Given the description of an element on the screen output the (x, y) to click on. 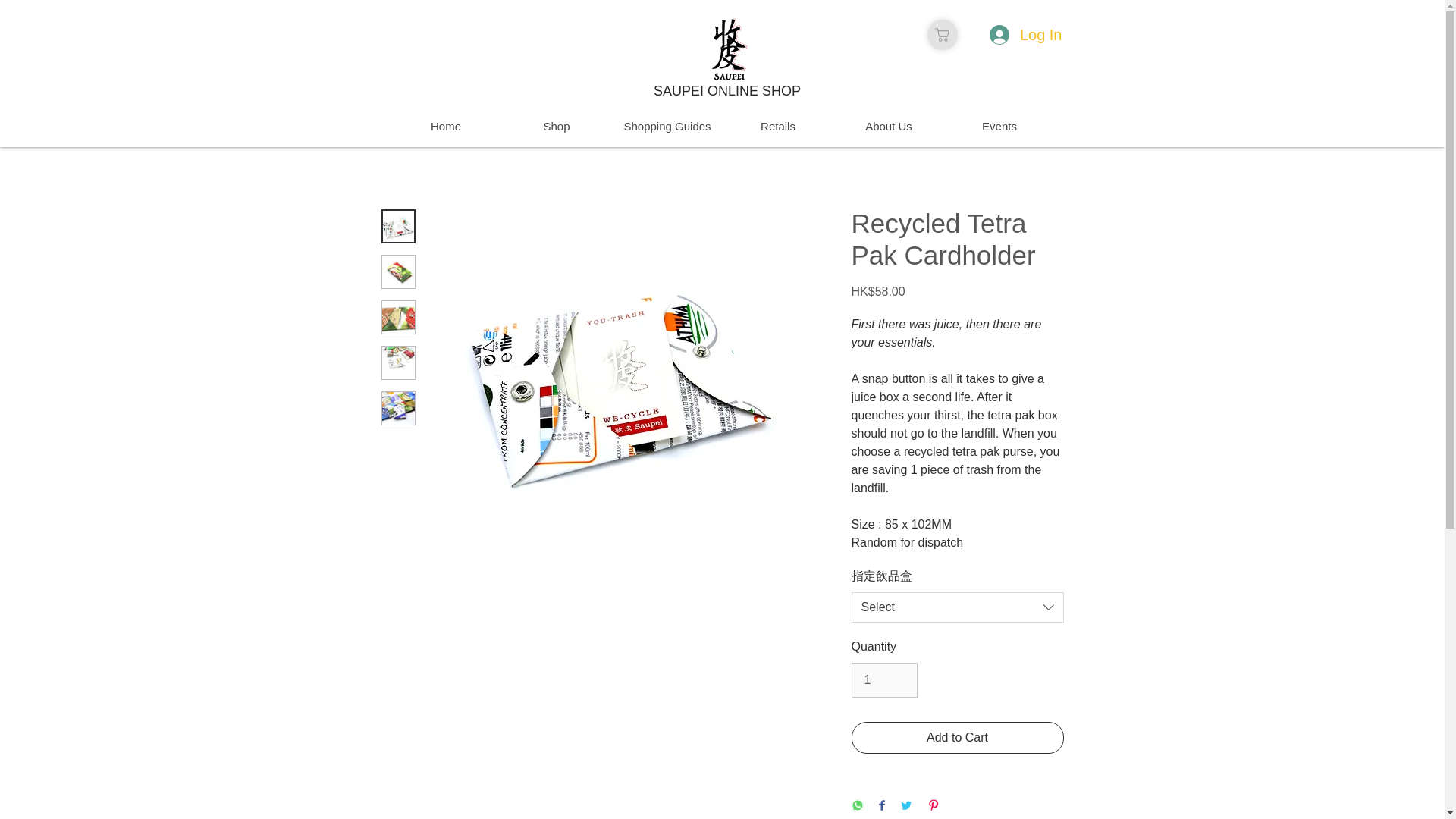
Events (998, 126)
Home (445, 126)
About Us (887, 126)
Retails (777, 126)
Log In (1025, 34)
Shopping Guides (666, 126)
Add to Cart (956, 737)
1 (883, 679)
Shop (555, 126)
Select (956, 607)
